Given the description of an element on the screen output the (x, y) to click on. 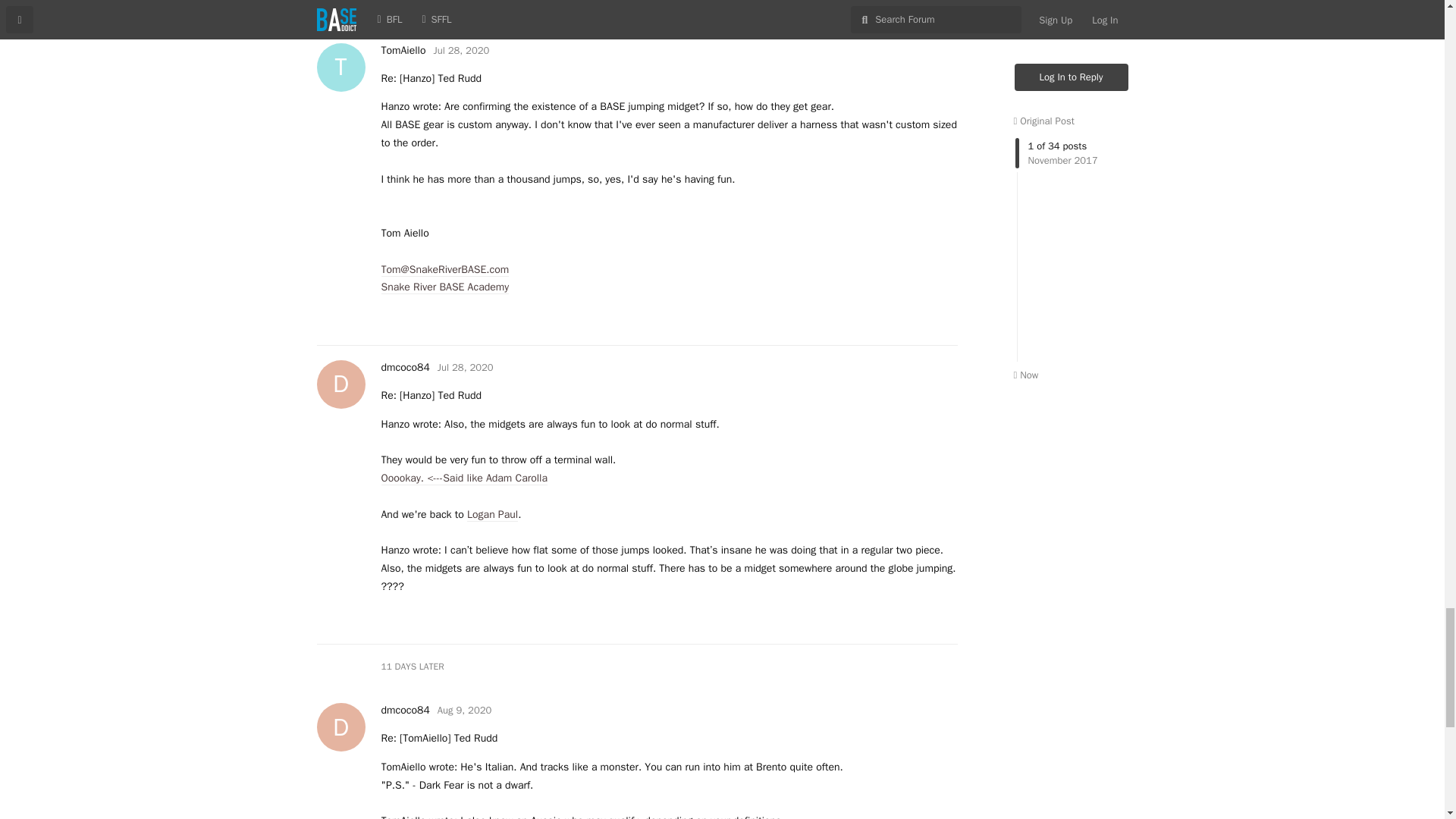
Tuesday, July 28, 2020 3:48 PM (461, 50)
